Given the description of an element on the screen output the (x, y) to click on. 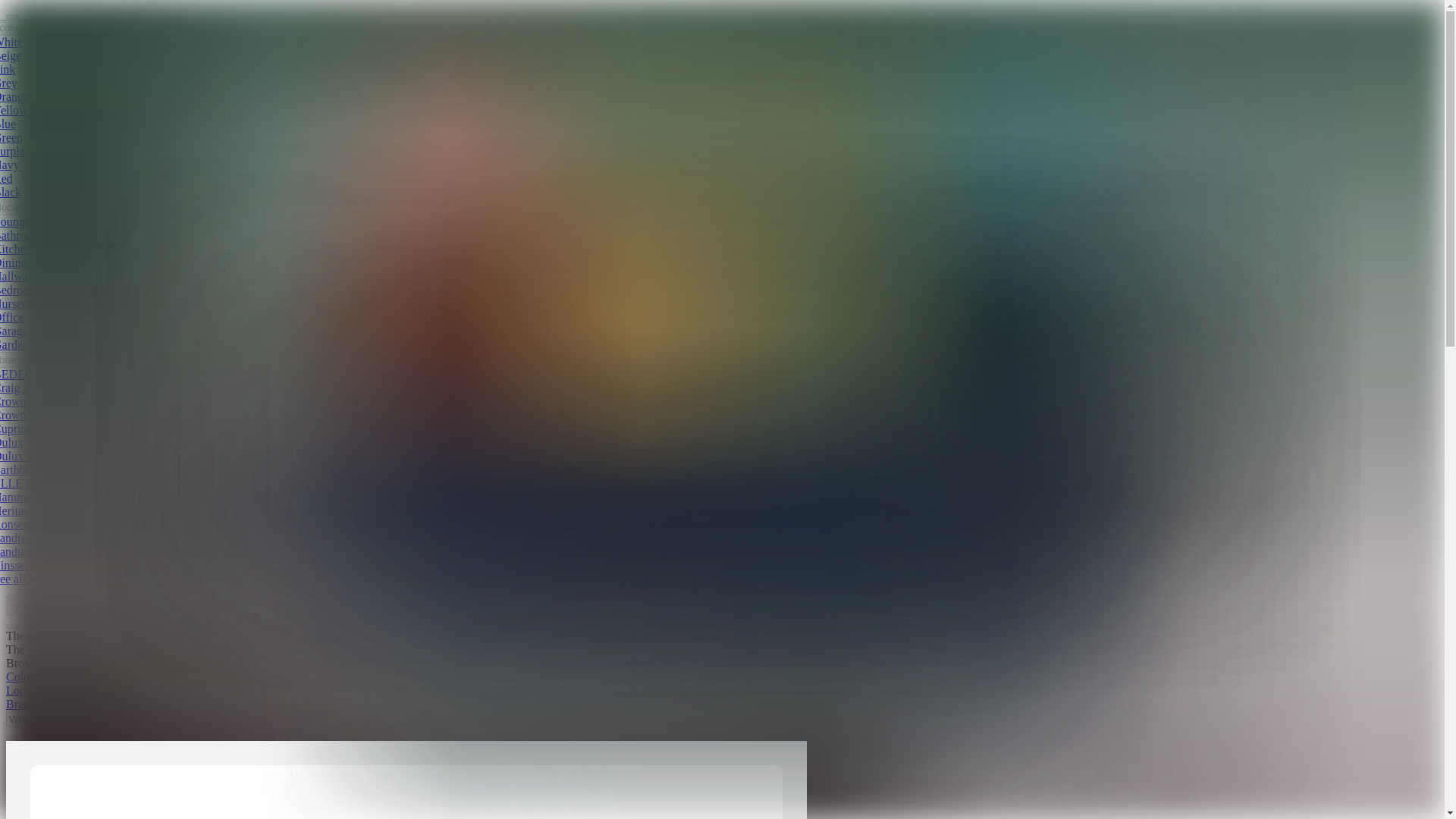
Cuprinol (18, 428)
Craig and Rose (34, 387)
Green (11, 137)
Heritage (17, 510)
Black (10, 192)
Sandtex Trade (31, 551)
location (20, 207)
Crown (13, 400)
Dulux (11, 441)
Sandtex (16, 537)
colour (16, 27)
ELLE Decoration (40, 482)
Blue (8, 123)
Pink (7, 69)
Beige (10, 55)
